Given the description of an element on the screen output the (x, y) to click on. 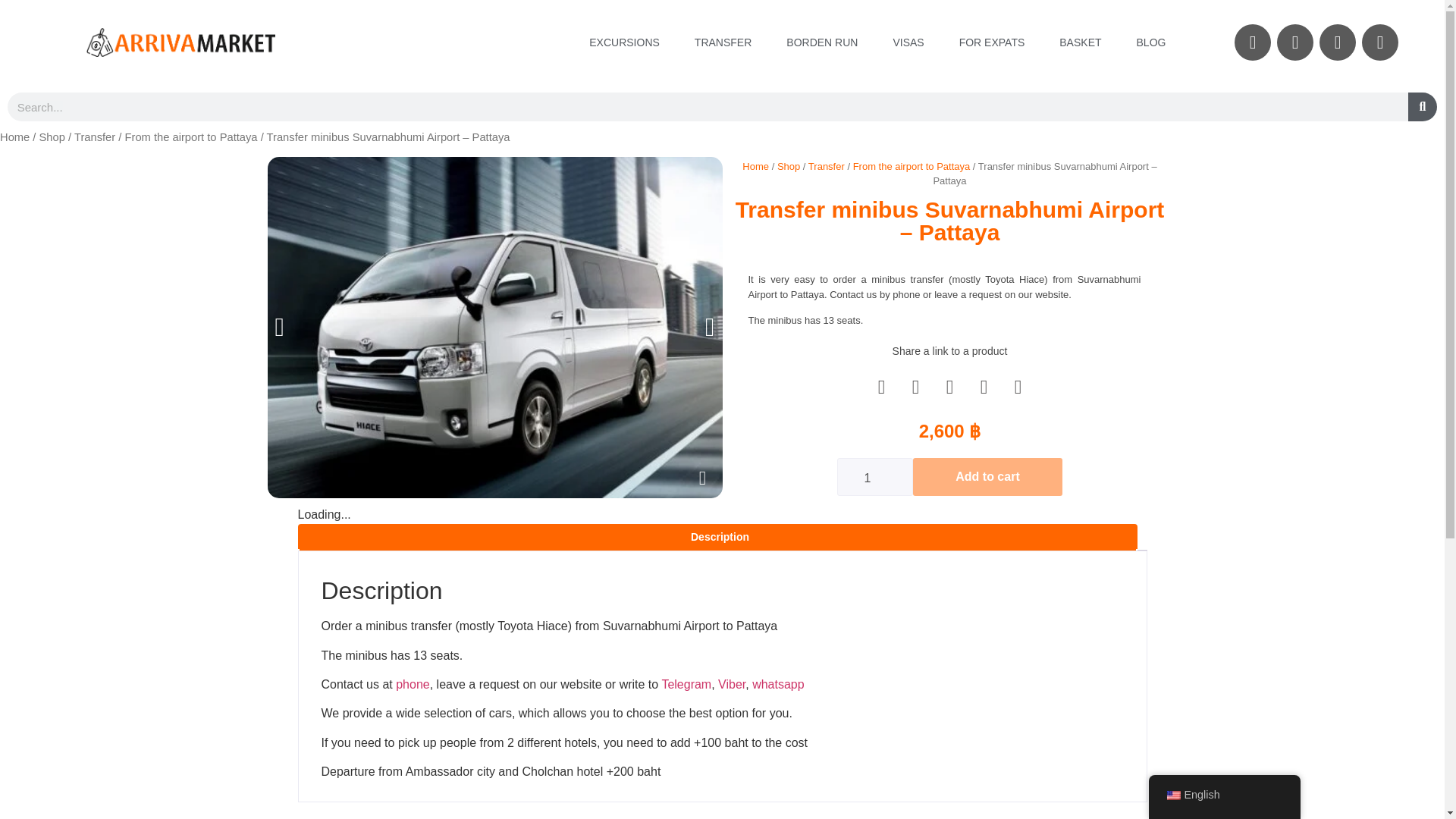
BASKET (1079, 41)
EXCURSIONS (624, 41)
English (1172, 795)
1 (874, 476)
FOR EXPATS (992, 41)
TRANSFER (723, 41)
BORDEN RUN (821, 41)
